Given the description of an element on the screen output the (x, y) to click on. 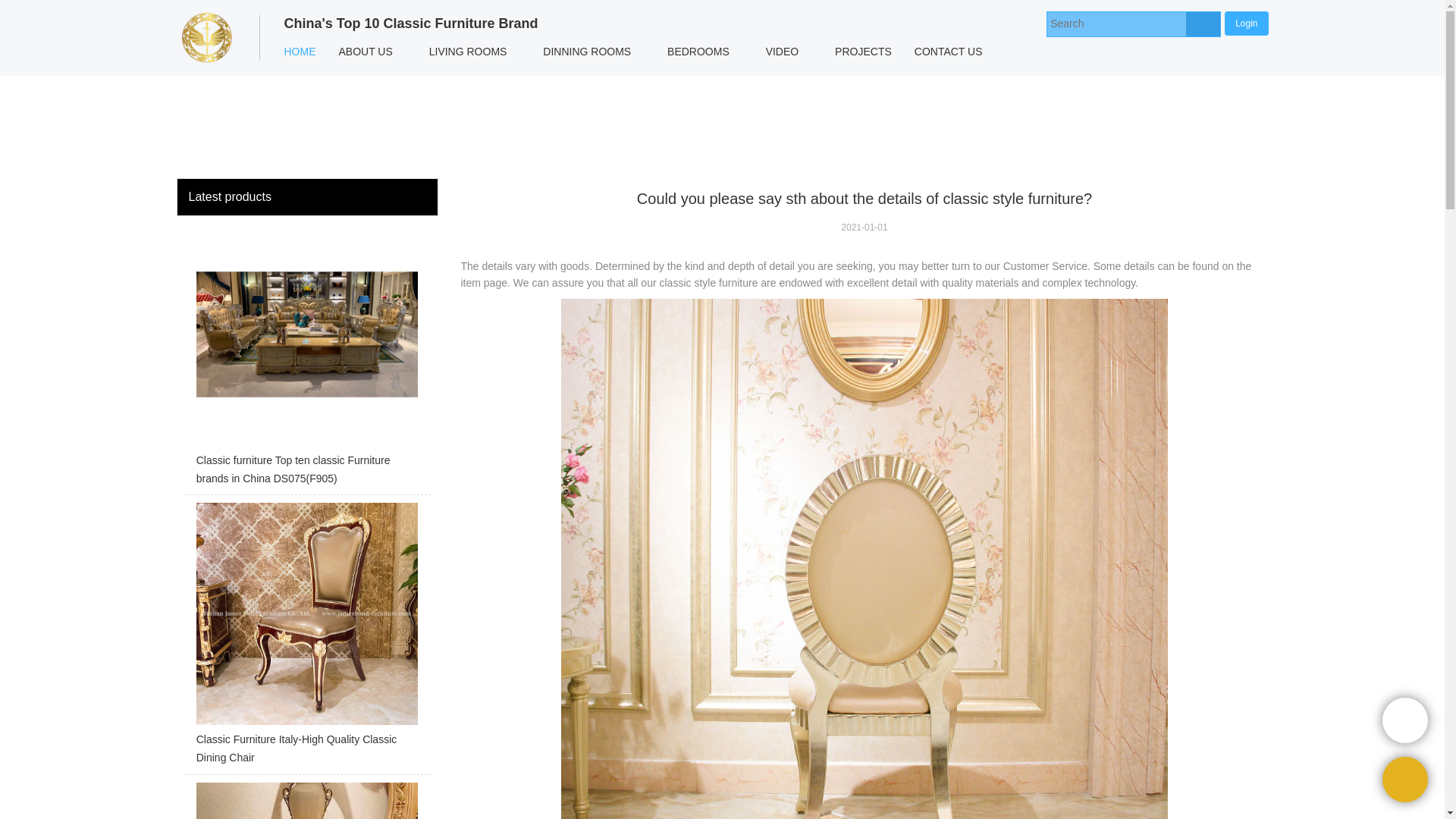
HOME (300, 51)
PROJECTS (863, 51)
Italian bedroom furniture Hand-carved bedside tables (306, 800)
VIDEO (782, 51)
DINNING ROOMS (586, 51)
ABOUT US (365, 51)
BEDROOMS (698, 51)
Login (1245, 23)
CONTACT US (948, 51)
LIVING ROOMS (467, 51)
